Given the description of an element on the screen output the (x, y) to click on. 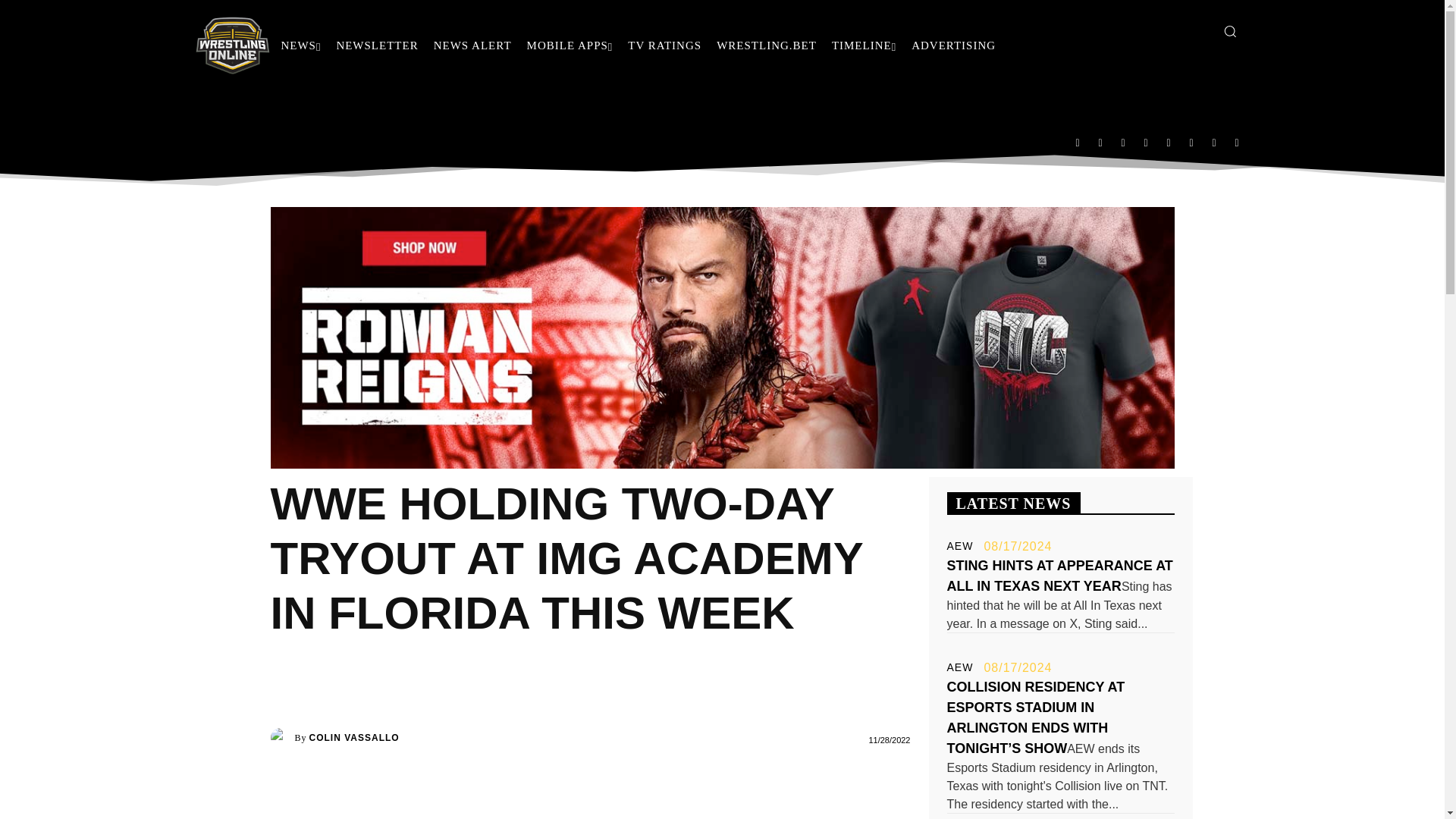
RSS (1145, 141)
NEWS (301, 44)
Mail (1123, 141)
Instagram (1100, 141)
Facebook (1077, 141)
